Given the description of an element on the screen output the (x, y) to click on. 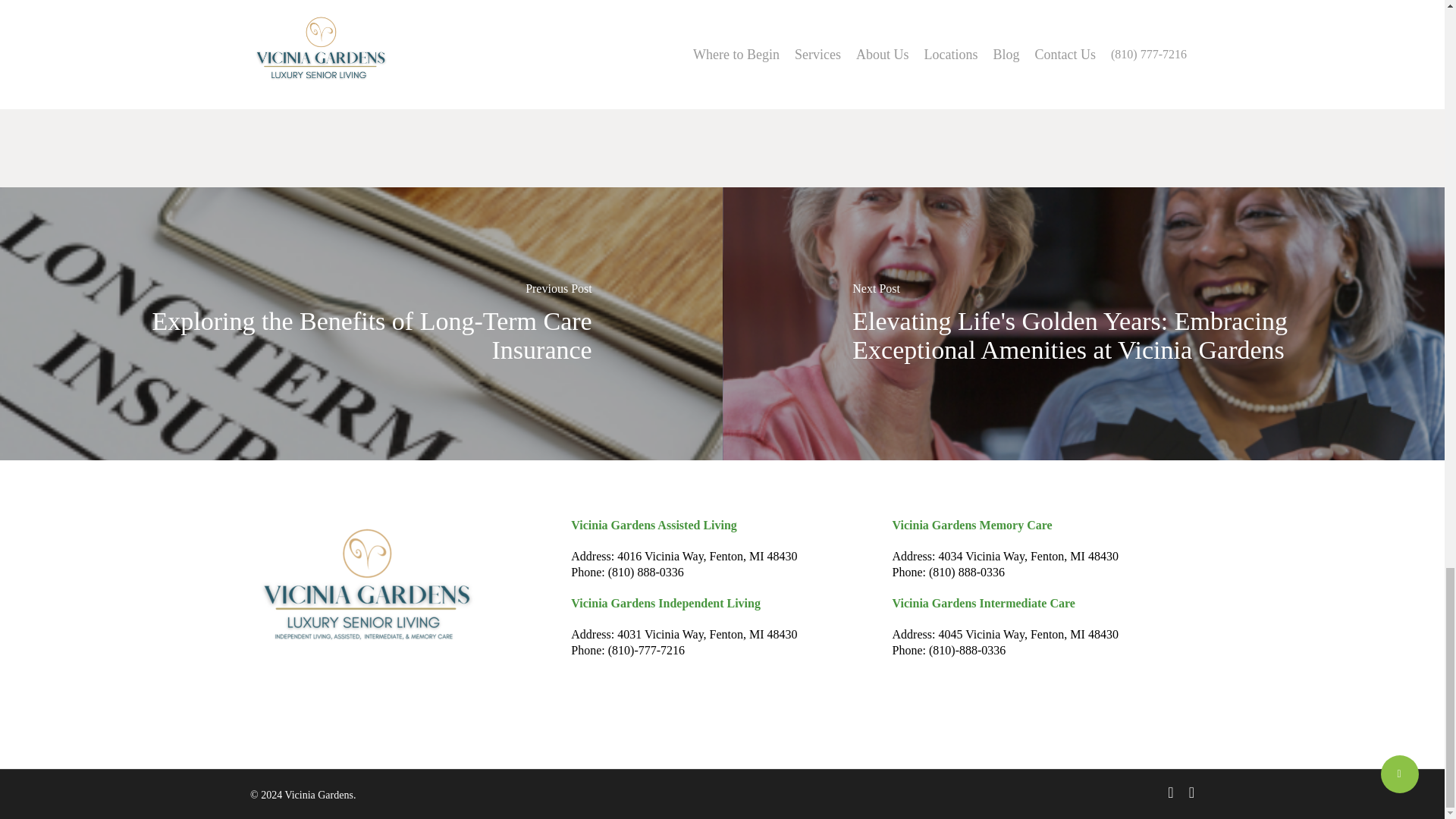
Address: 4031 Vicinia Way, Fenton, MI 48430 (683, 634)
Address: 4016 Vicinia Way, Fenton, MI 48430 (683, 555)
Address: 4034 Vicinia Way, Fenton, MI 48430 (1005, 555)
assisted living in Fenton, MI (875, 23)
